Given the description of an element on the screen output the (x, y) to click on. 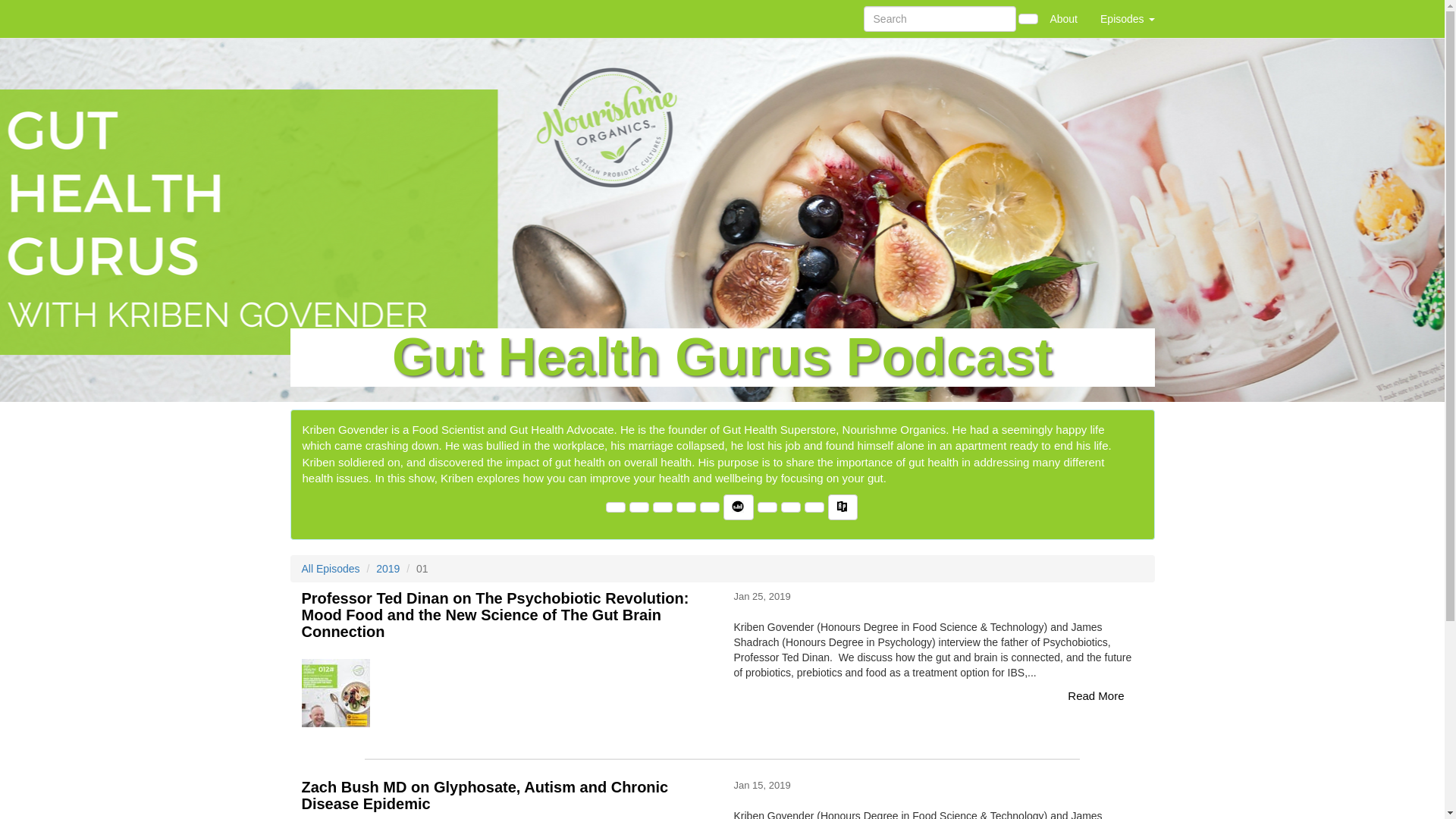
About Element type: text (1063, 18)
2019 Element type: text (387, 568)
Read More Element type: text (1095, 695)
All Episodes Element type: text (330, 568)
Home Page Element type: hover (320, 18)
Episodes Element type: text (1126, 18)
